Given the description of an element on the screen output the (x, y) to click on. 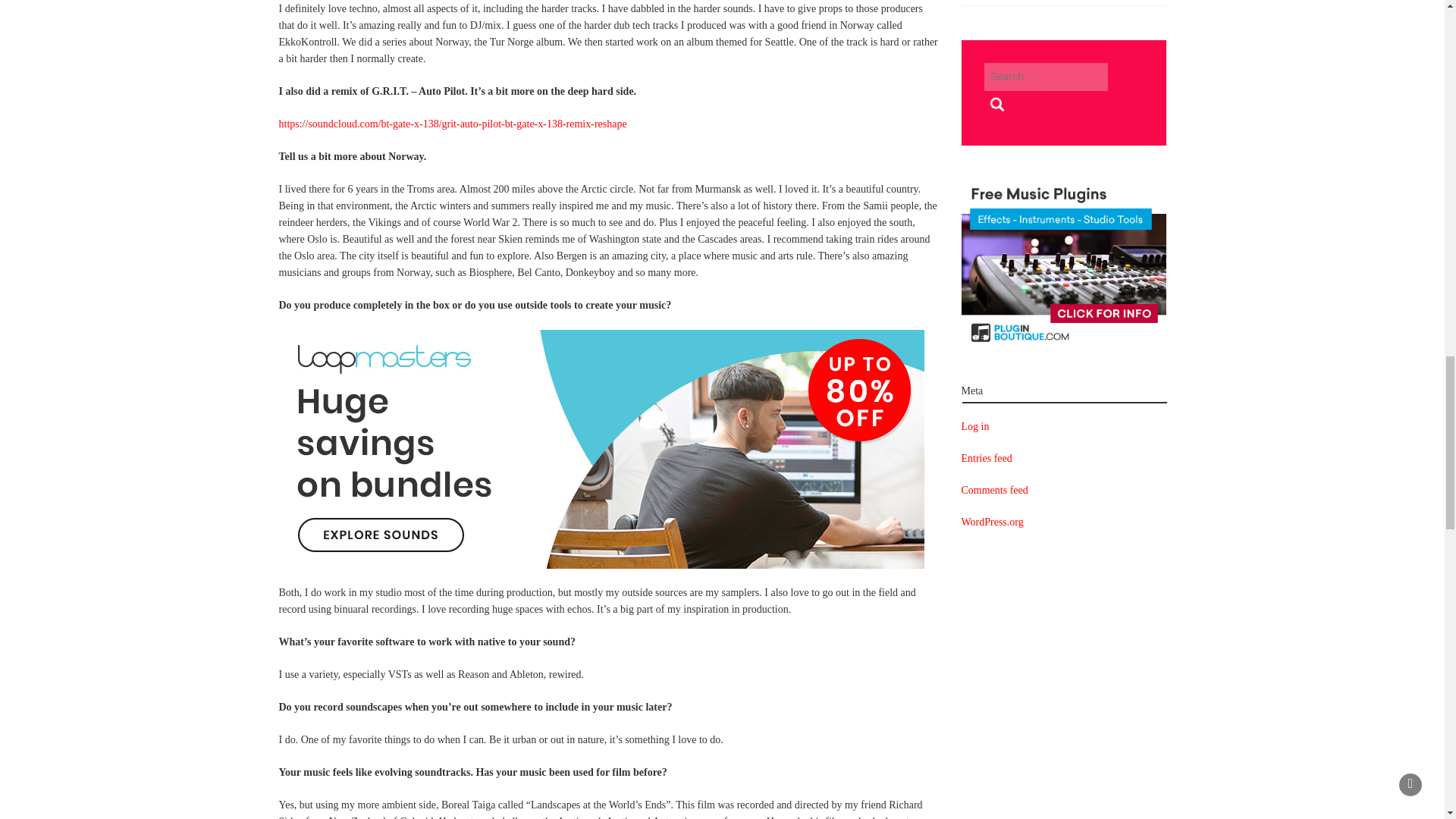
Search (997, 104)
Search (997, 104)
Search for: (1046, 76)
Free Music Plugins from Pluginboutique.com (1063, 264)
